Given the description of an element on the screen output the (x, y) to click on. 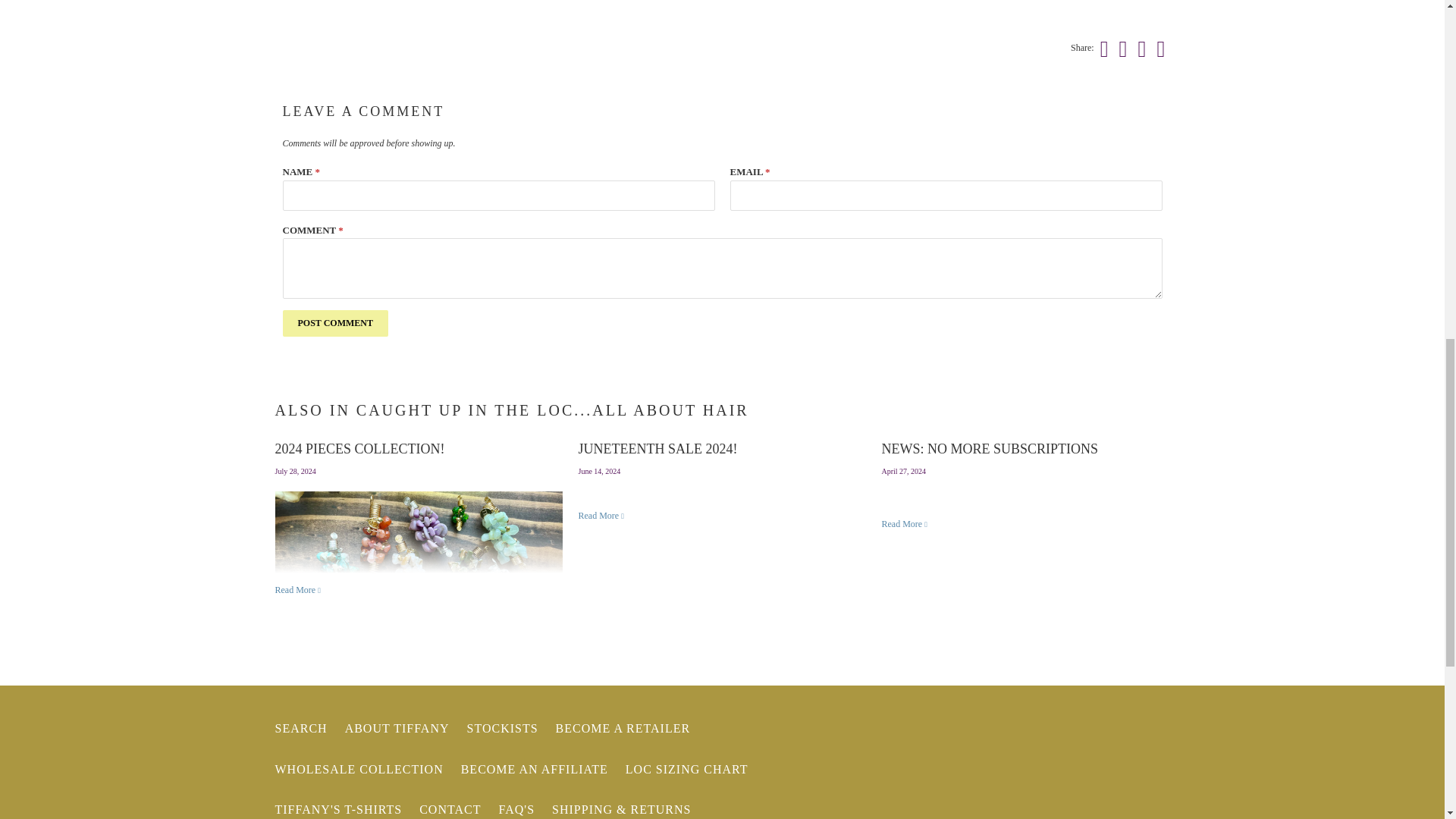
Post comment (334, 323)
2024 PIECES COLLECTION! (298, 589)
Email this to a friend (1159, 48)
Share this on Twitter (1102, 48)
JUNETEENTH SALE 2024! (657, 448)
2024 PIECES COLLECTION! (359, 448)
NEWS: NO MORE SUBSCRIPTIONS (904, 523)
NEWS: NO MORE SUBSCRIPTIONS (988, 448)
JUNETEENTH SALE 2024! (601, 515)
Share this on Pinterest (1140, 48)
Share this on Facebook (1120, 48)
